Given the description of an element on the screen output the (x, y) to click on. 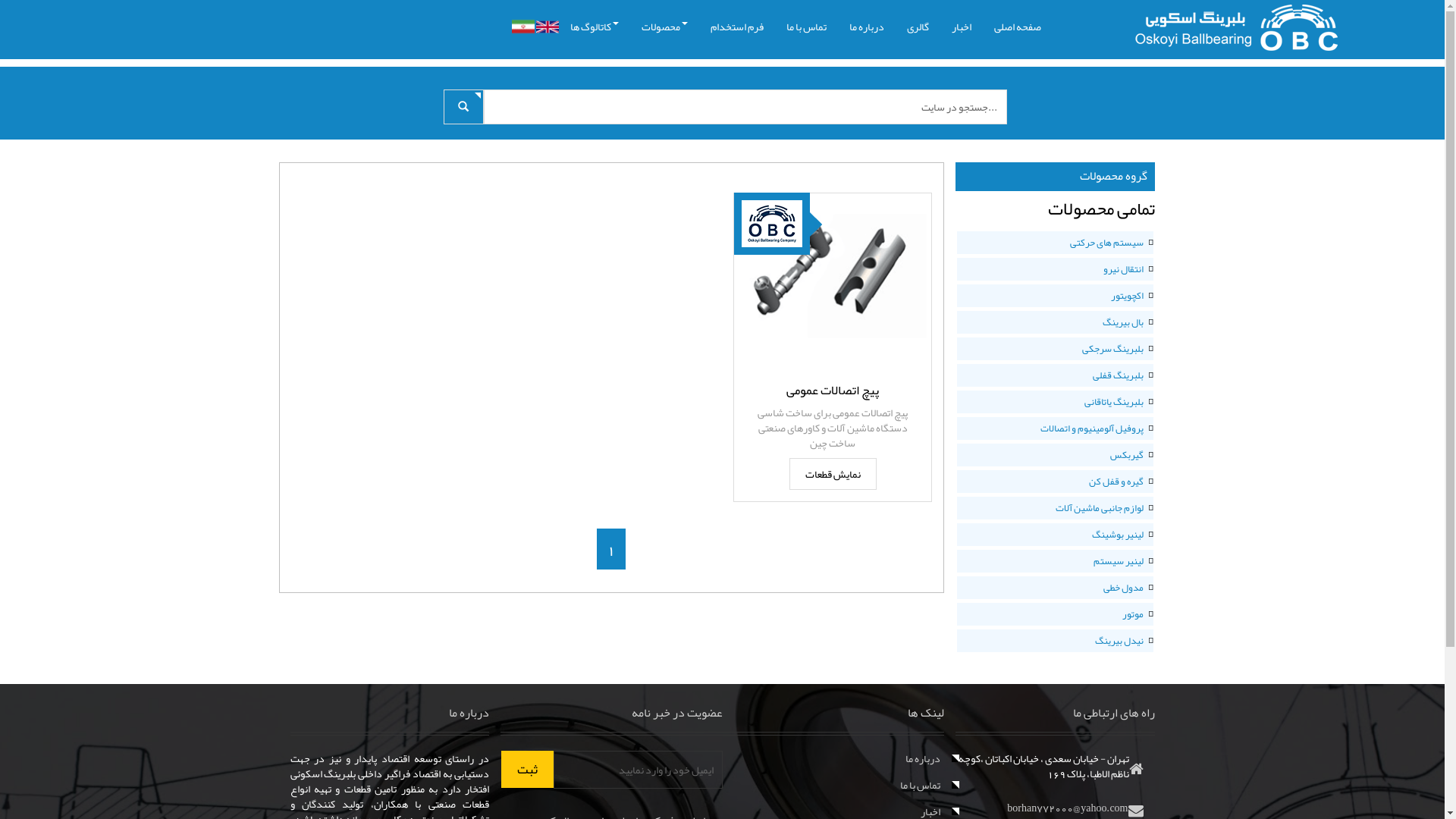
borhan772000@yahoo.com Element type: text (1067, 807)
1 Element type: text (610, 548)
OBC Element type: hover (771, 223)
English Language Element type: hover (546, 26)
